Given the description of an element on the screen output the (x, y) to click on. 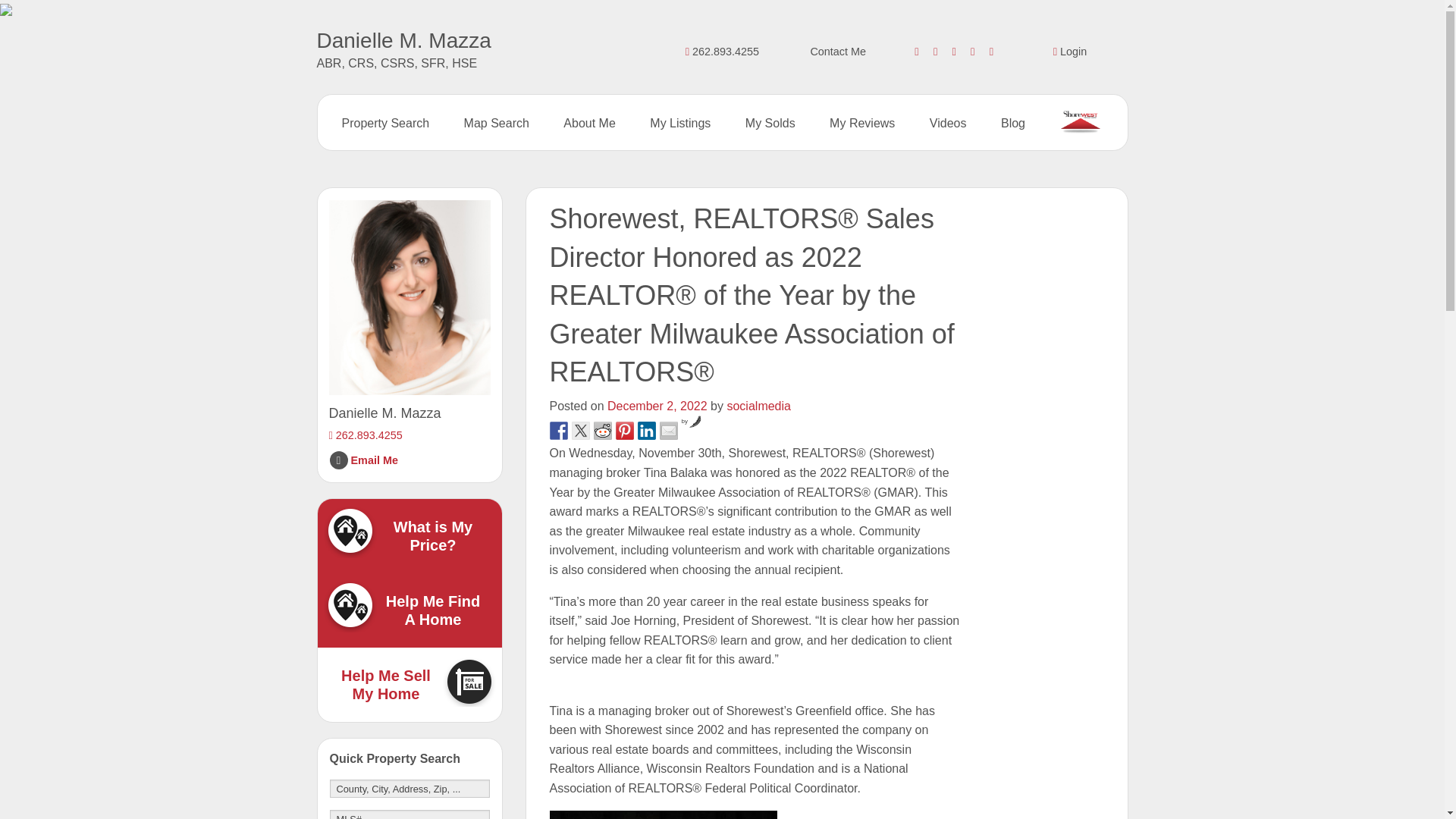
December 2, 2022 (657, 405)
Property Search (384, 122)
socialmedia (758, 405)
262.893.4255 (721, 51)
262.893.4255 (366, 435)
by (691, 421)
Share by email (668, 430)
Videos (948, 122)
Danielle M. Mazza (404, 40)
My Reviews (862, 122)
Call 262.893.4255 (366, 435)
My Solds (769, 122)
View all posts by socialmedia (758, 405)
Contact Me (837, 51)
Share on Facebook (557, 430)
